Given the description of an element on the screen output the (x, y) to click on. 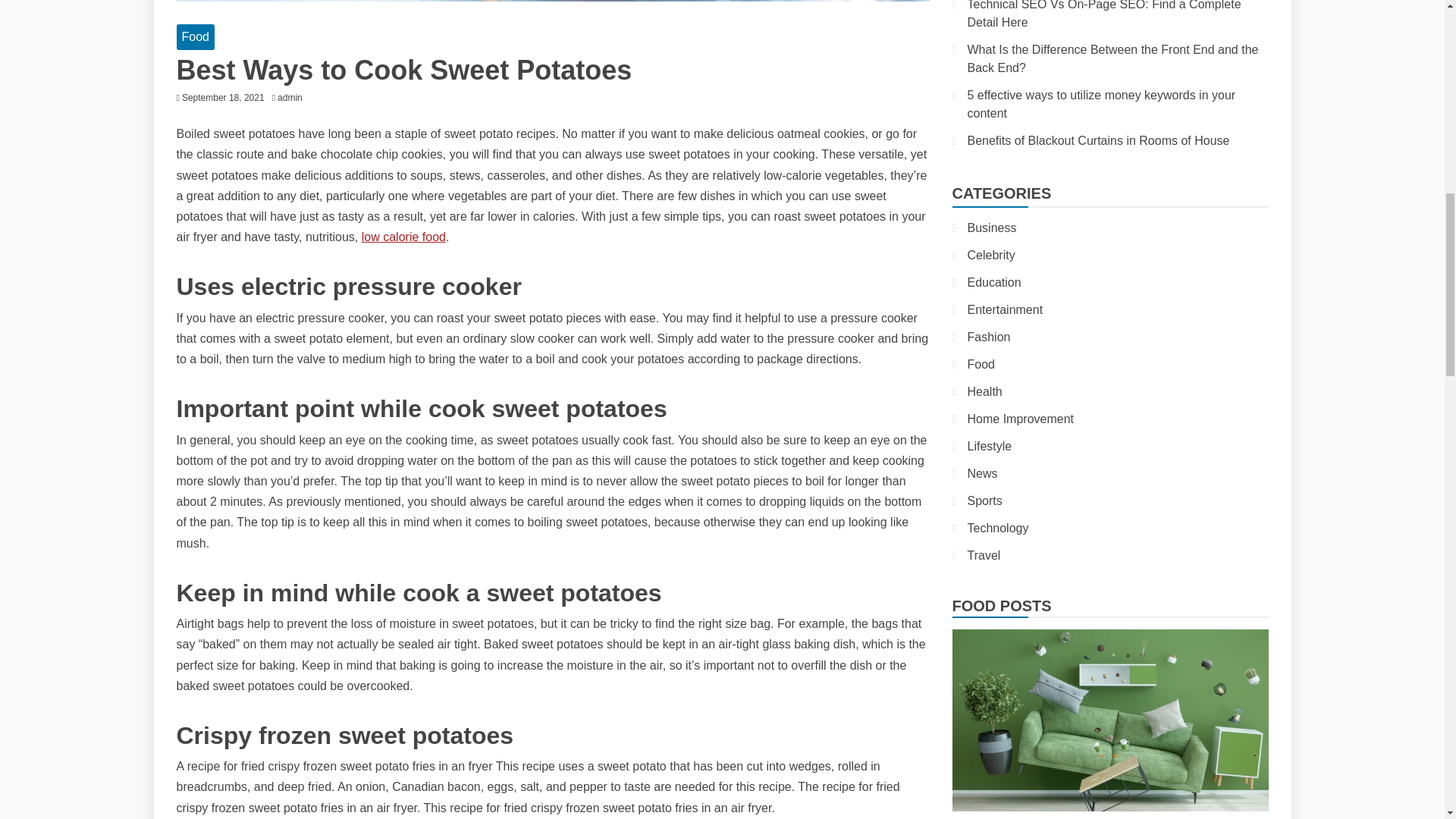
admin (294, 97)
low calorie food (403, 236)
September 18, 2021 (223, 97)
Food (195, 36)
